Given the description of an element on the screen output the (x, y) to click on. 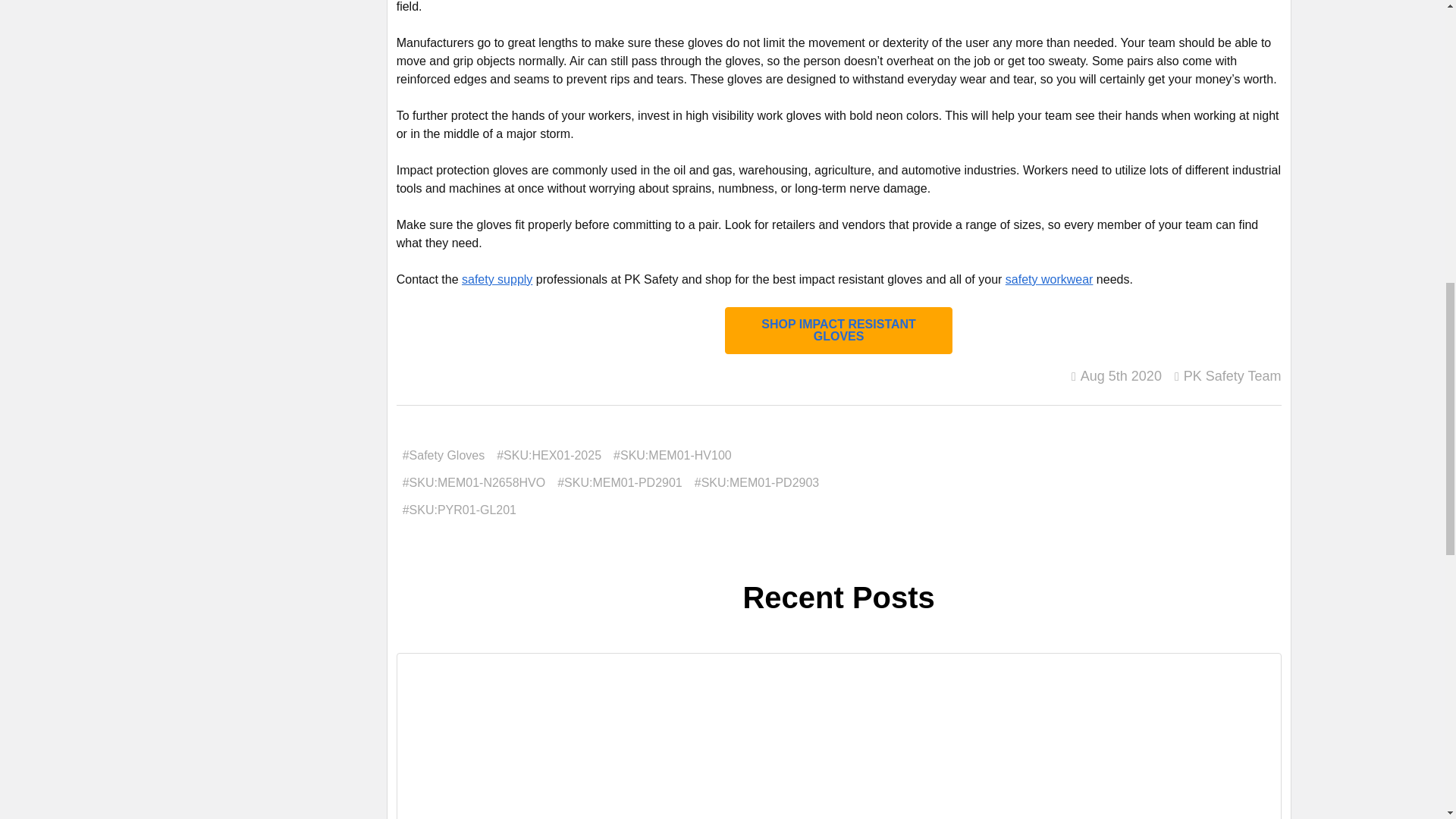
10 Ways to Prevent Wildfires  (838, 740)
